Given the description of an element on the screen output the (x, y) to click on. 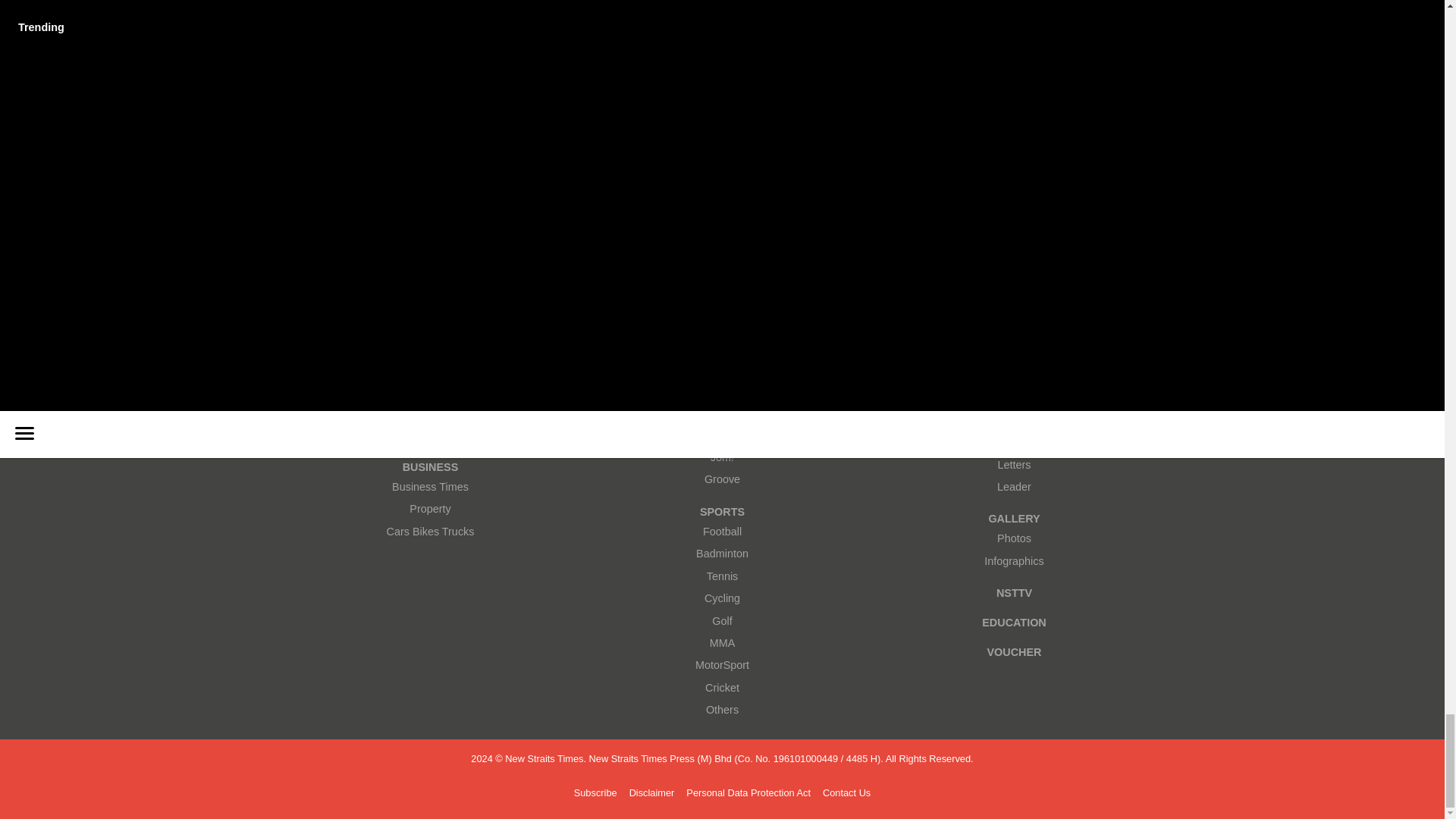
NEWS (429, 348)
Politics (429, 434)
BUSINESS (429, 466)
Nation (429, 413)
Business Times (429, 486)
